Given the description of an element on the screen output the (x, y) to click on. 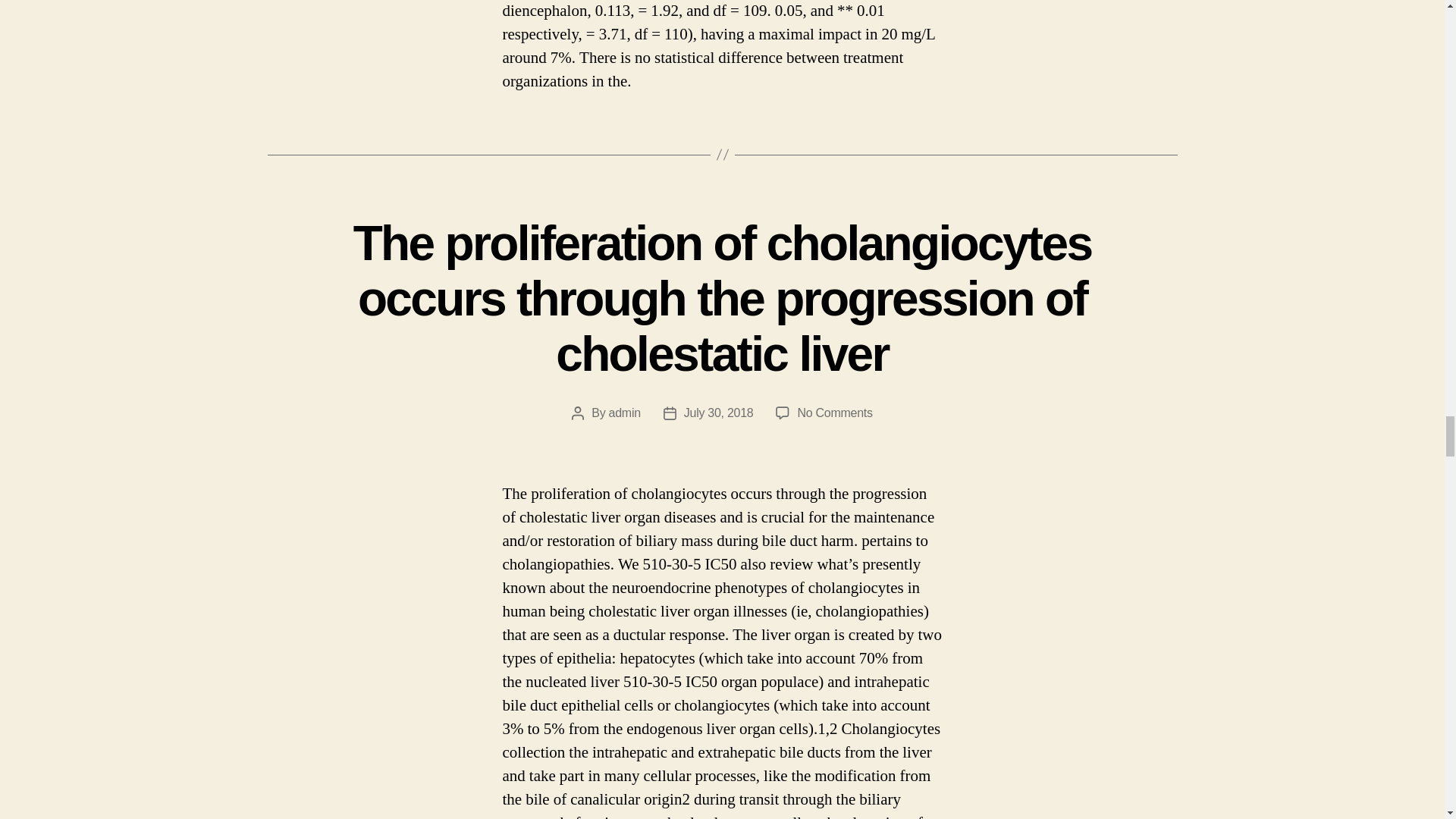
July 30, 2018 (719, 412)
admin (624, 412)
